Given the description of an element on the screen output the (x, y) to click on. 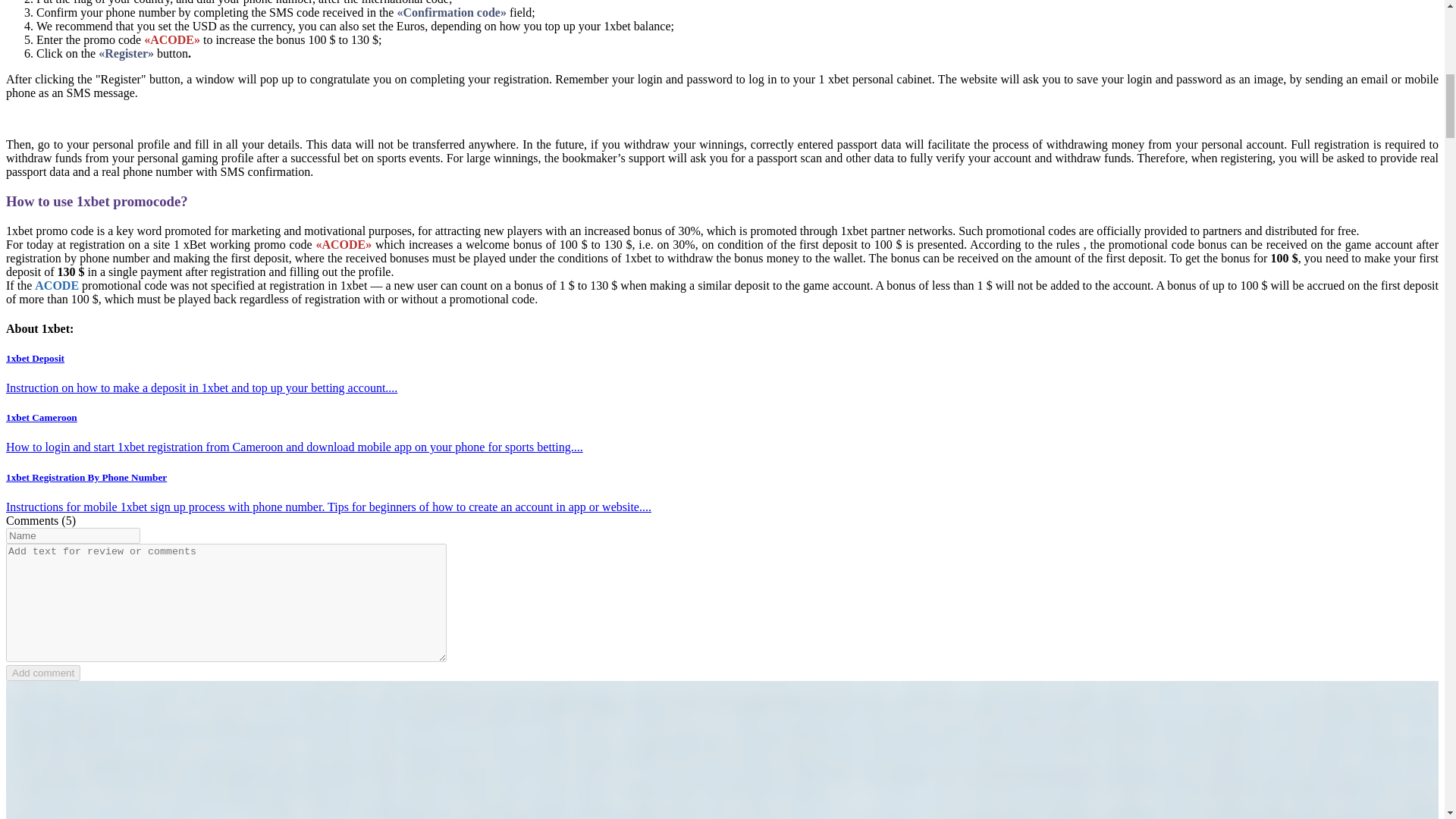
Add comment (42, 672)
